Given the description of an element on the screen output the (x, y) to click on. 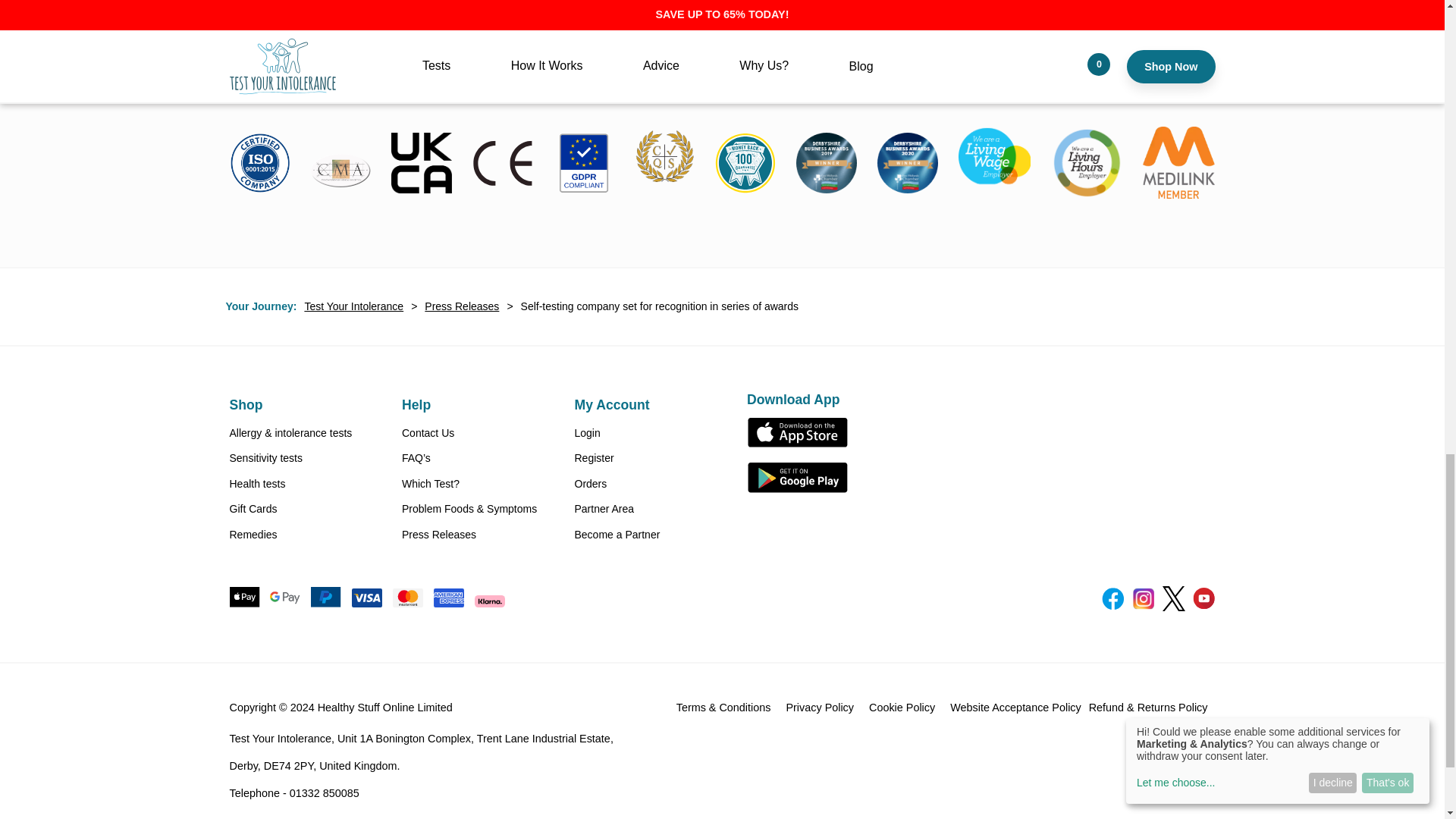
Go to Press Releases. (461, 306)
Go to Test Your Intolerance. (353, 306)
